Given the description of an element on the screen output the (x, y) to click on. 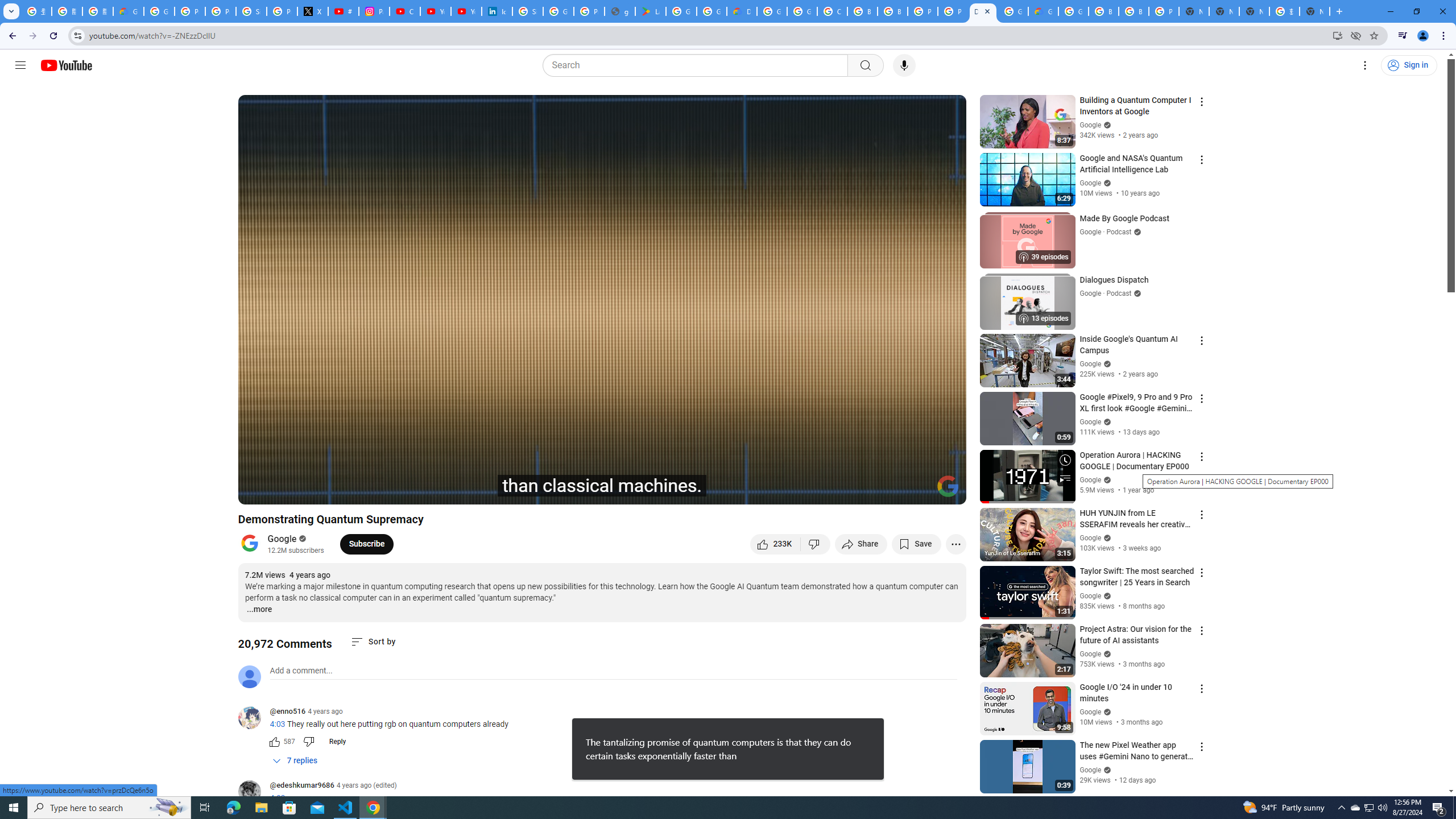
Seek slider (601, 476)
Verified (1106, 769)
Demonstrating Quantum Supremacy - YouTube - Audio playing (982, 11)
AutomationID: simplebox-placeholder (301, 670)
Google Cloud Platform (1072, 11)
Subscribe to Google. (366, 543)
Sort comments (372, 641)
New Tab (1193, 11)
Save to playlist (915, 543)
More actions (955, 543)
